Given the description of an element on the screen output the (x, y) to click on. 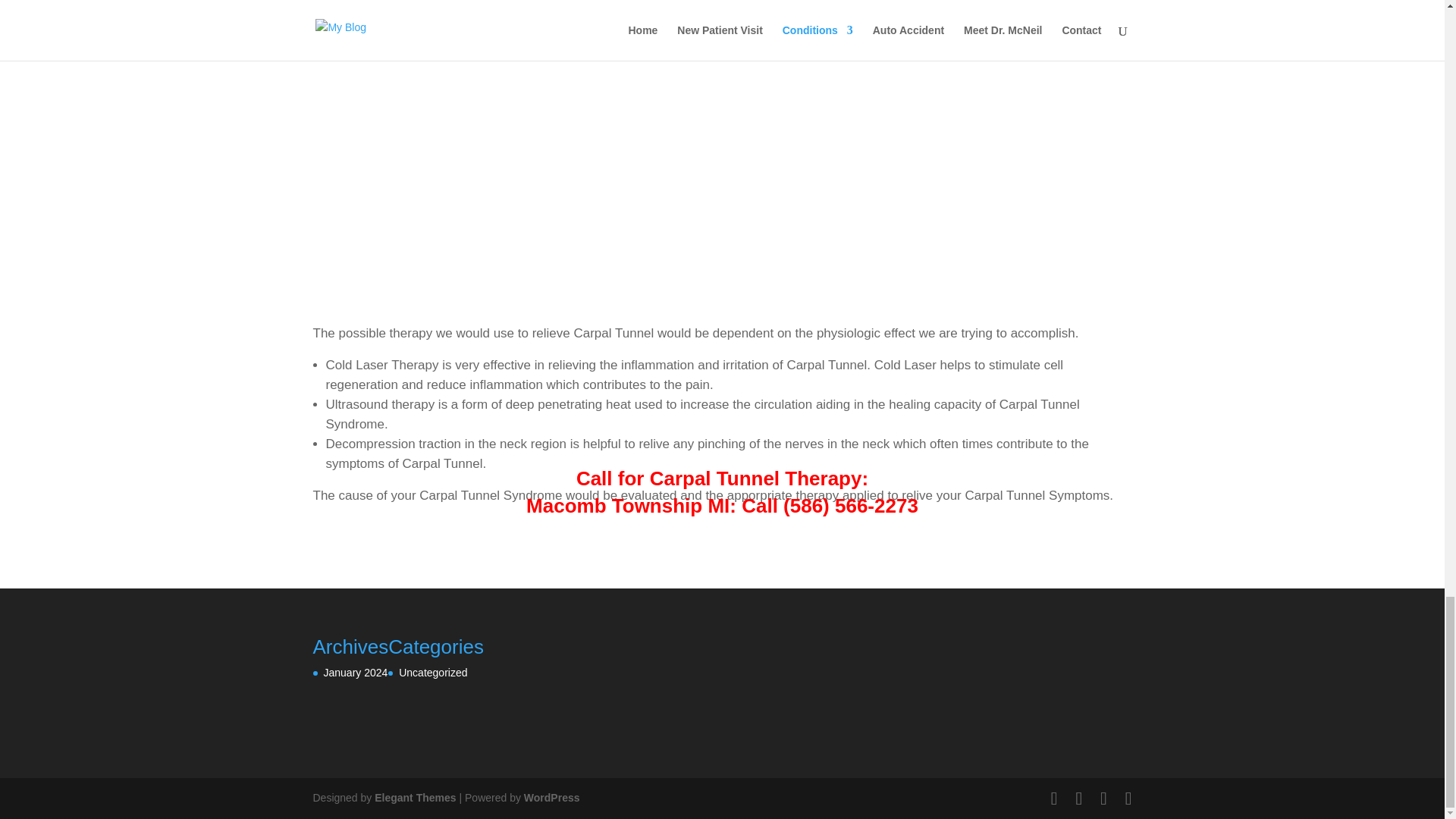
Premium WordPress Themes (414, 797)
WordPress (551, 797)
Uncategorized (432, 672)
Elegant Themes (414, 797)
Treatment for Carpal Tunnel Ferndale MI (721, 140)
January 2024 (355, 672)
